Given the description of an element on the screen output the (x, y) to click on. 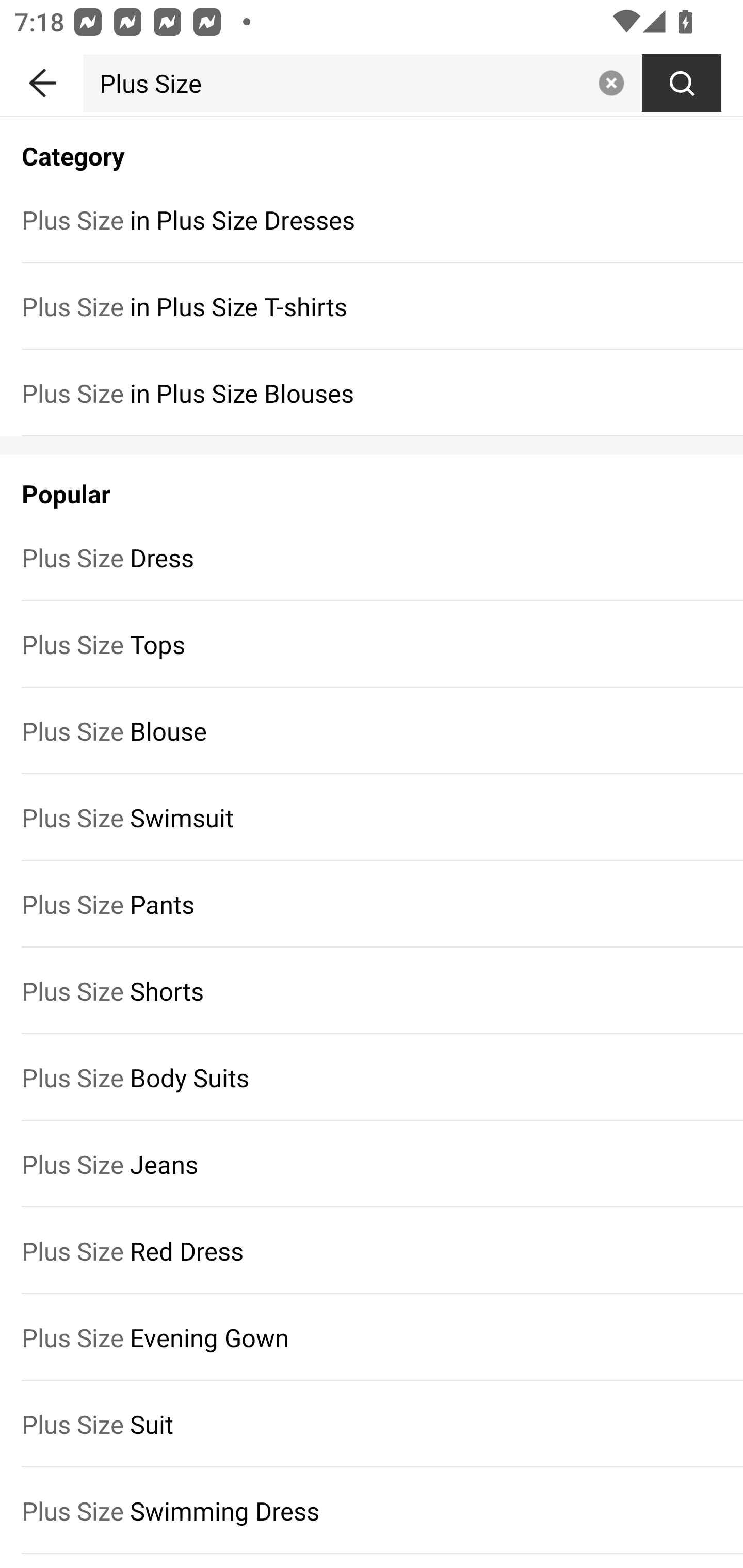
BACK (41, 79)
Plus Size (336, 82)
Clear (610, 82)
Category (371, 145)
Plus Size in Plus Size Dresses (371, 219)
Plus Size in Plus Size T-shirts (371, 306)
Plus Size in Plus Size Blouses (371, 392)
Popular (371, 484)
Plus Size Dress (371, 557)
Plus Size Tops (371, 643)
Plus Size Blouse (371, 730)
Plus Size Swimsuit (371, 817)
Plus Size Pants (371, 903)
Plus Size Shorts (371, 990)
Plus Size Body Suits (371, 1077)
Plus Size Jeans (371, 1164)
Plus Size Red Dress (371, 1250)
Plus Size Evening Gown (371, 1337)
Plus Size Suit (371, 1424)
Plus Size Swimming Dress (371, 1510)
